Given the description of an element on the screen output the (x, y) to click on. 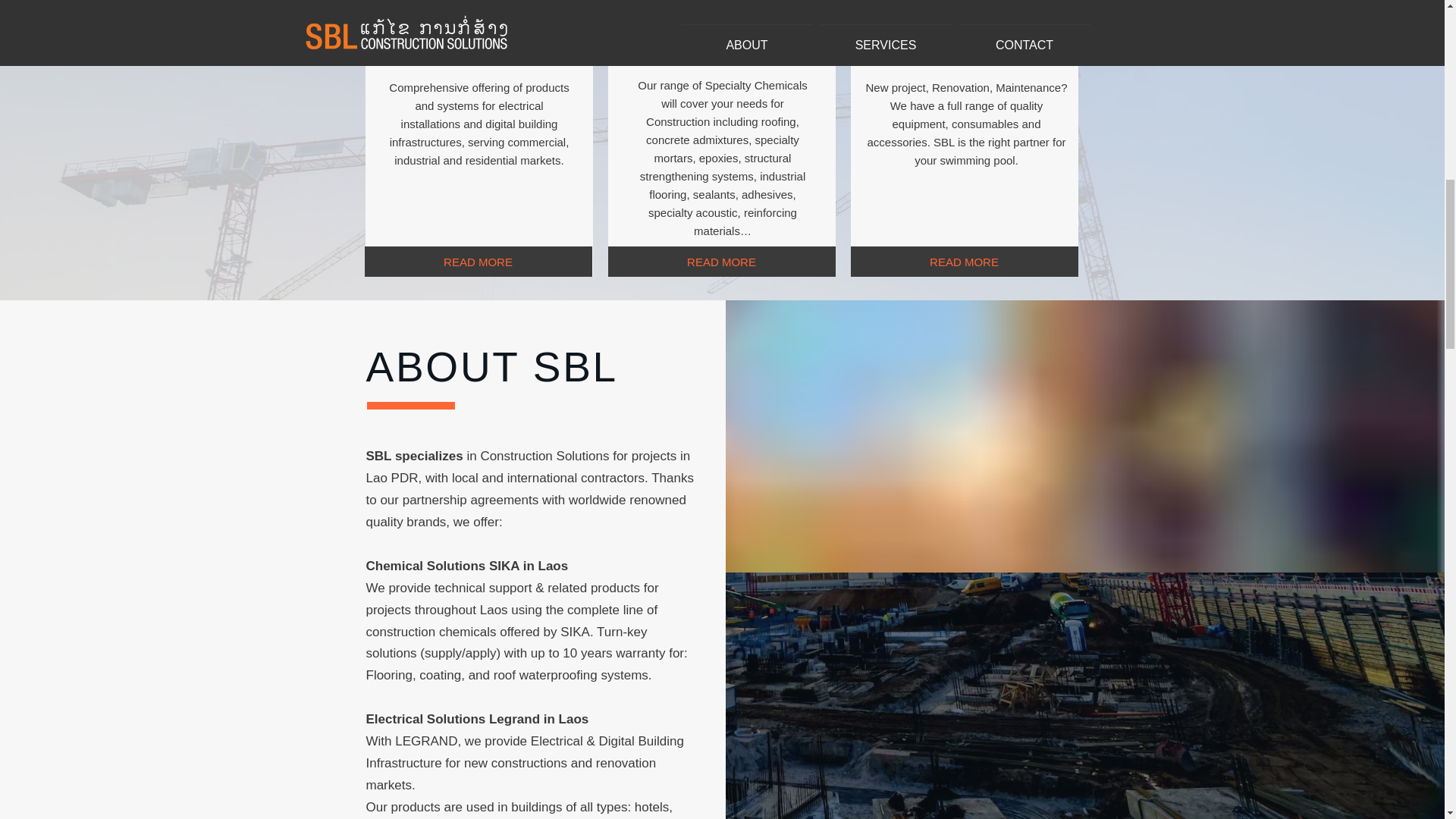
READ MORE (477, 261)
READ MORE (721, 261)
READ MORE (964, 261)
